Given the description of an element on the screen output the (x, y) to click on. 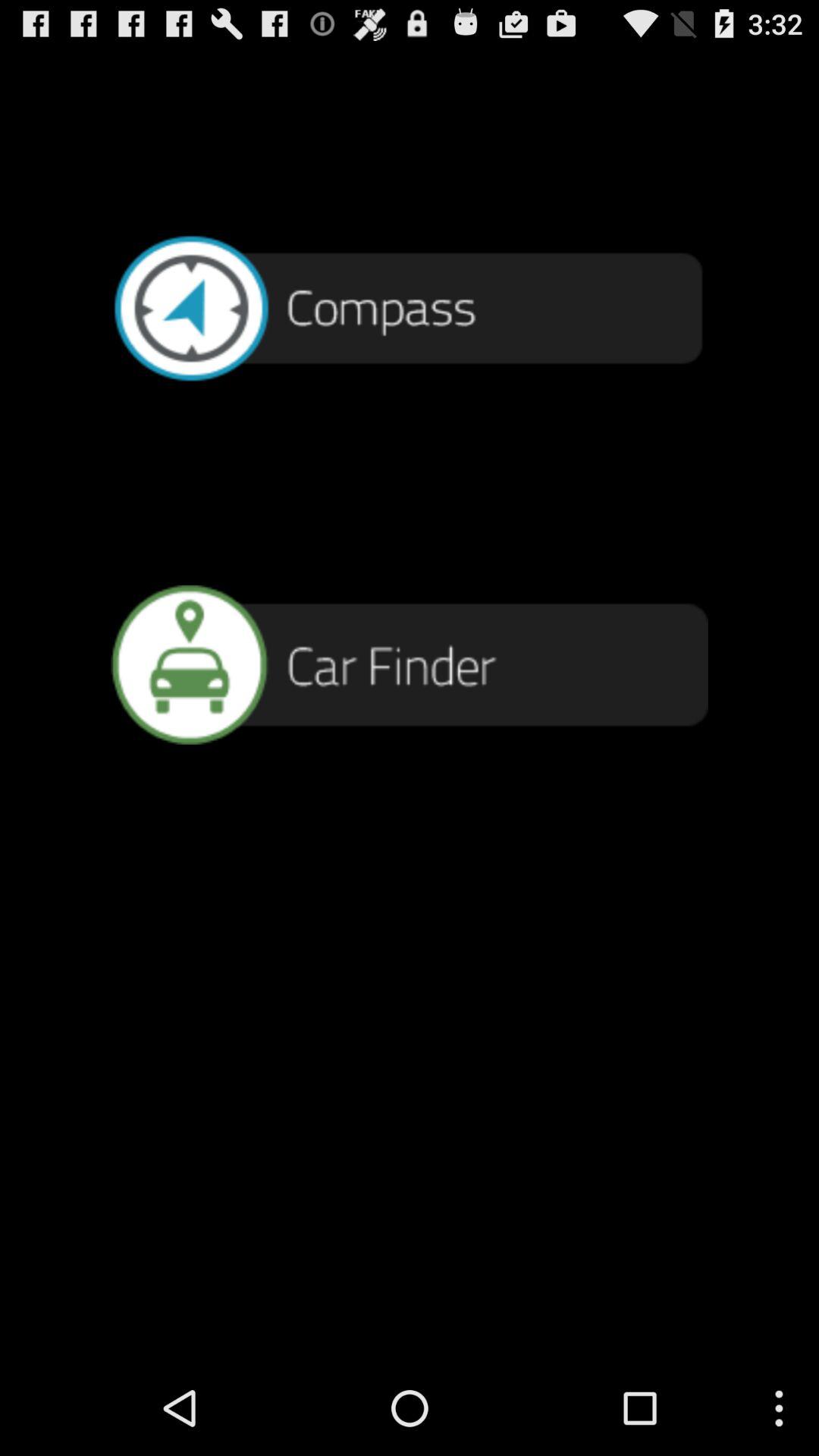
find car (409, 664)
